Given the description of an element on the screen output the (x, y) to click on. 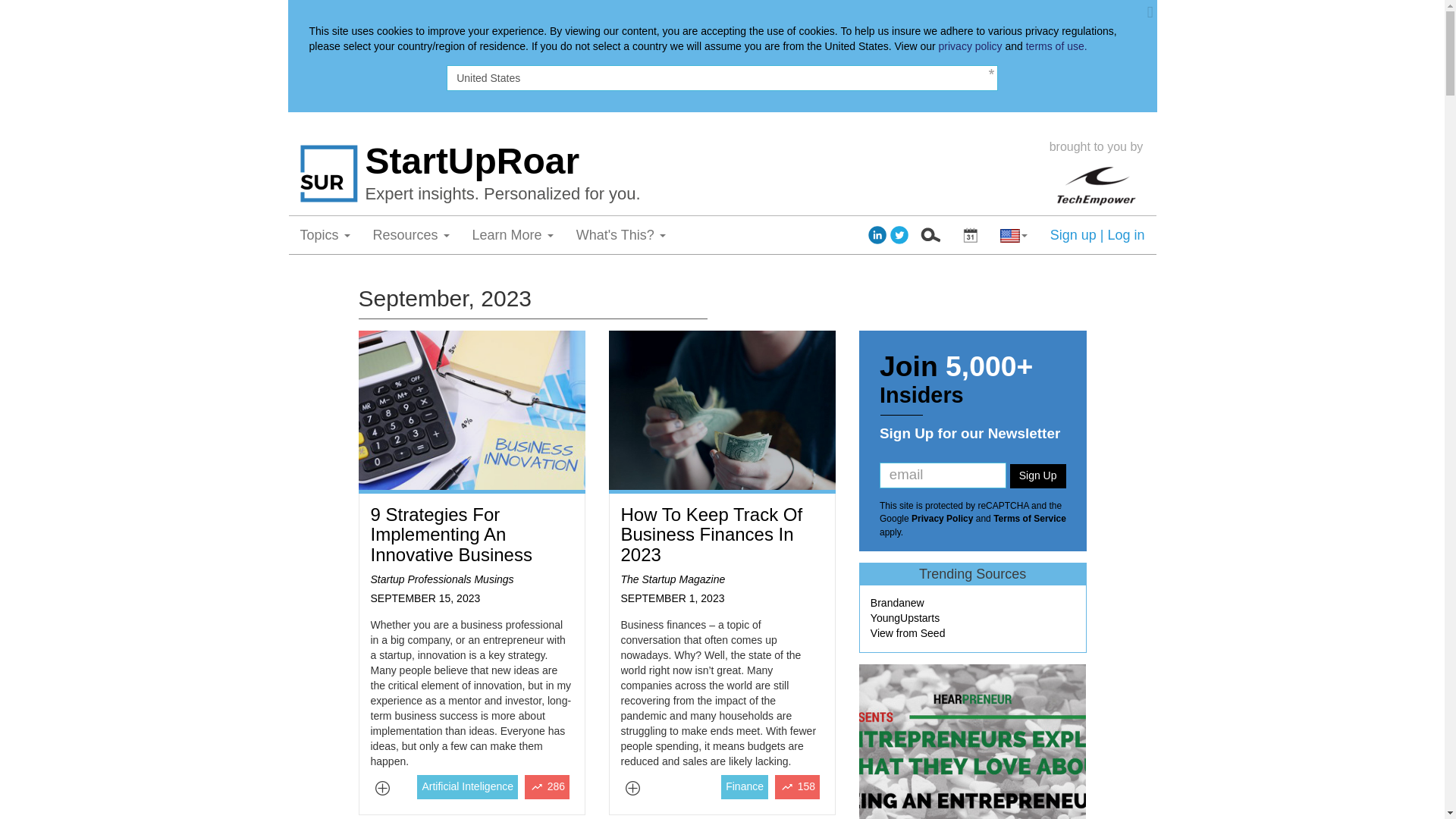
privacy policy (971, 46)
Select edition (970, 234)
United States (721, 77)
Select your country (1013, 234)
Search (930, 234)
TechEmpower (1095, 181)
terms of use. (1056, 46)
StartUpRoar (703, 161)
